Given the description of an element on the screen output the (x, y) to click on. 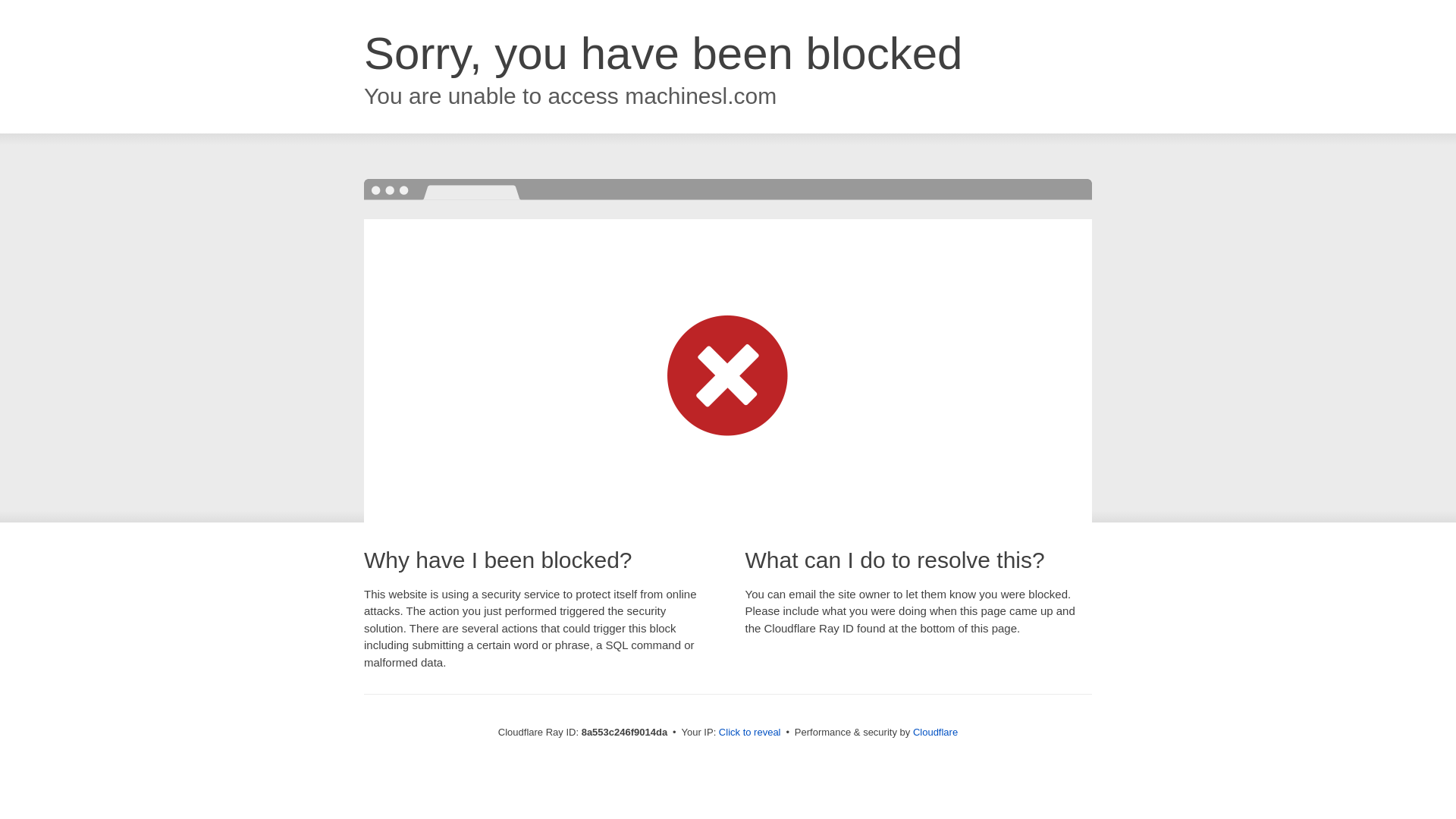
Click to reveal (749, 732)
Cloudflare (935, 731)
